Given the description of an element on the screen output the (x, y) to click on. 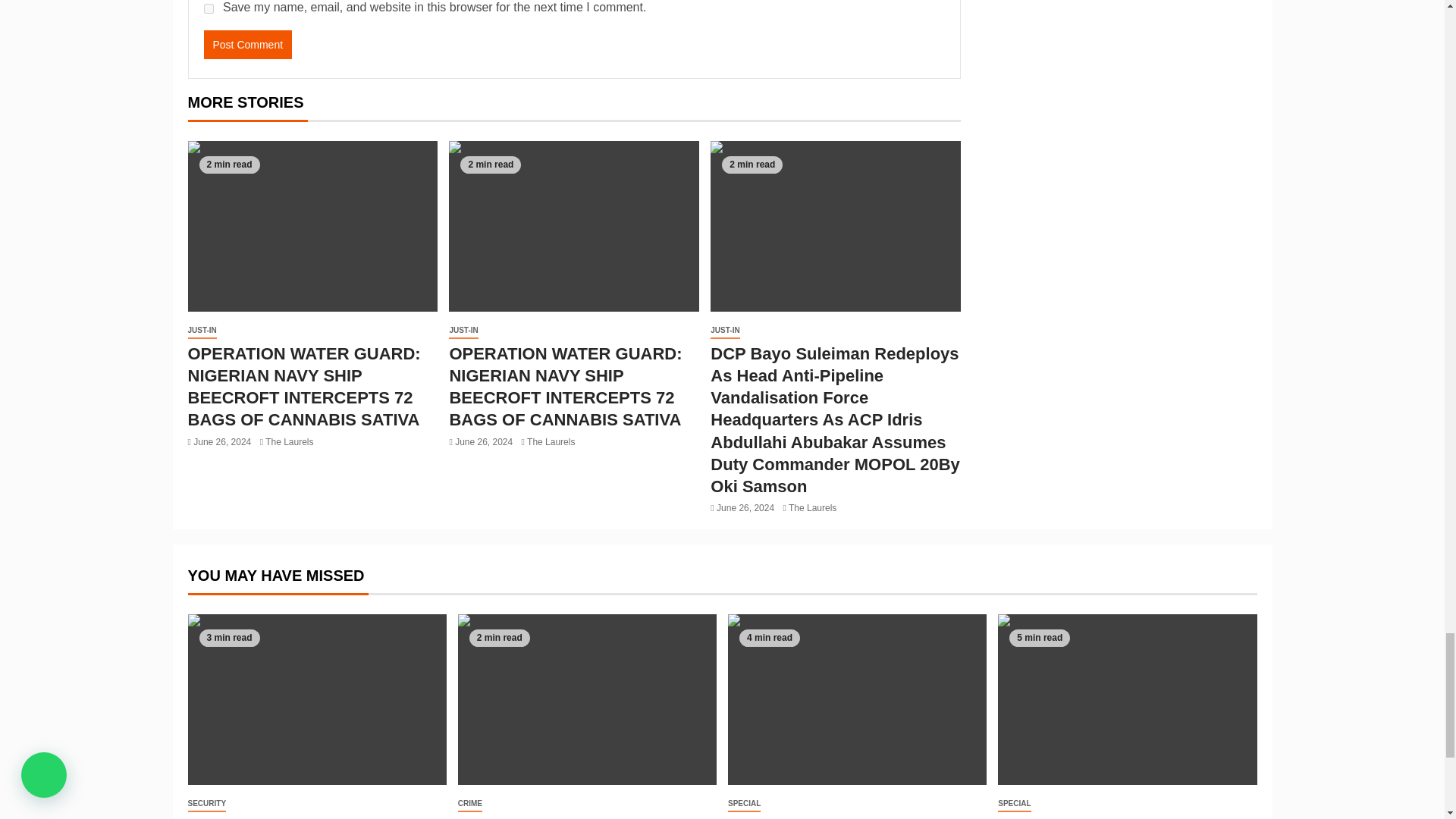
Post Comment (247, 44)
yes (207, 8)
